Given the description of an element on the screen output the (x, y) to click on. 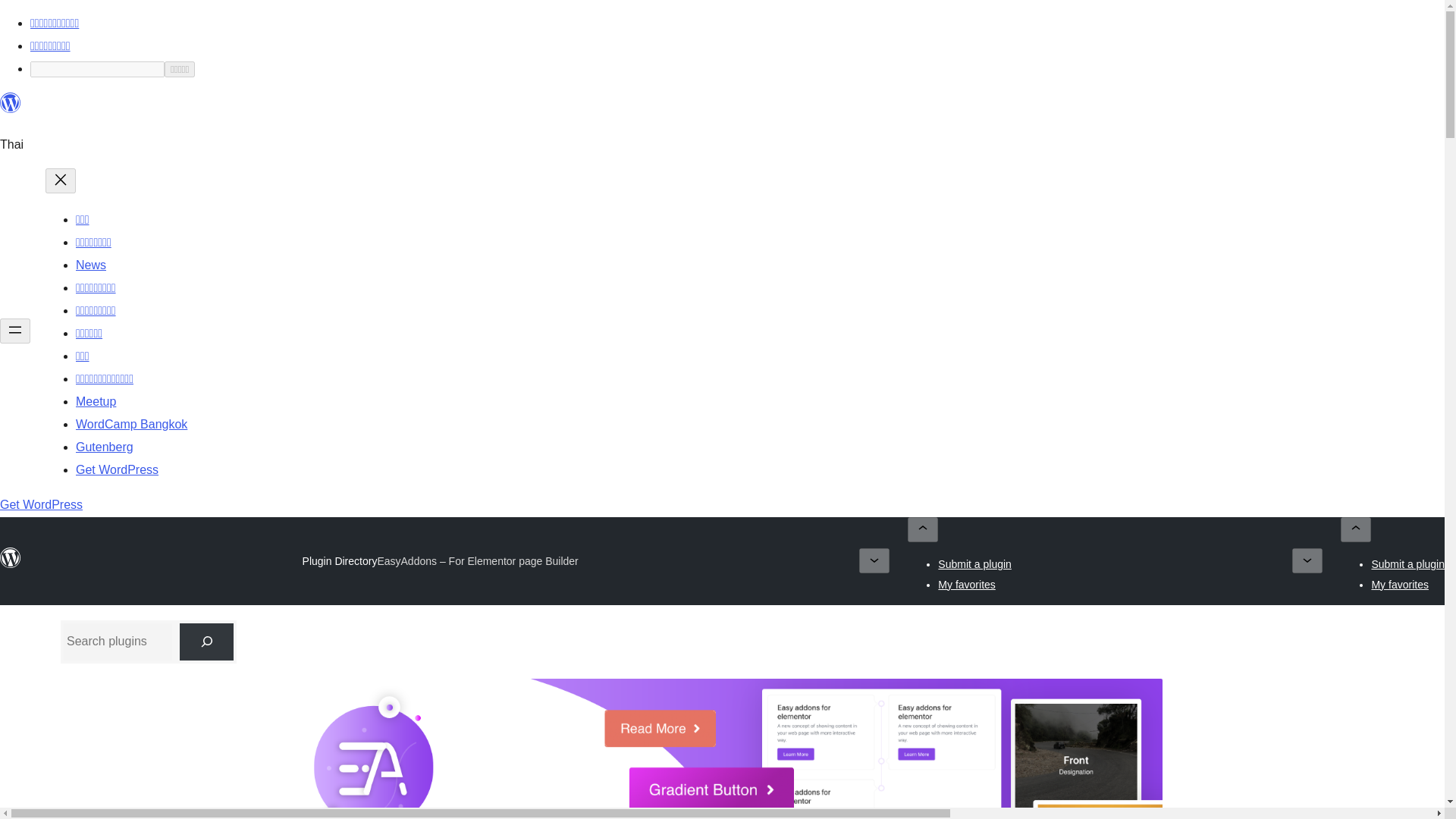
WordCamp Bangkok (131, 423)
Plugin Directory (339, 561)
WordPress.org (10, 109)
WordPress.org (10, 557)
News (90, 264)
WordPress.org (10, 564)
Submit a plugin (974, 563)
Get WordPress (116, 469)
WordPress.org (10, 102)
My favorites (1399, 583)
My favorites (965, 583)
Submit a plugin (1407, 563)
Gutenberg (104, 446)
Get WordPress (41, 504)
Meetup (95, 400)
